Given the description of an element on the screen output the (x, y) to click on. 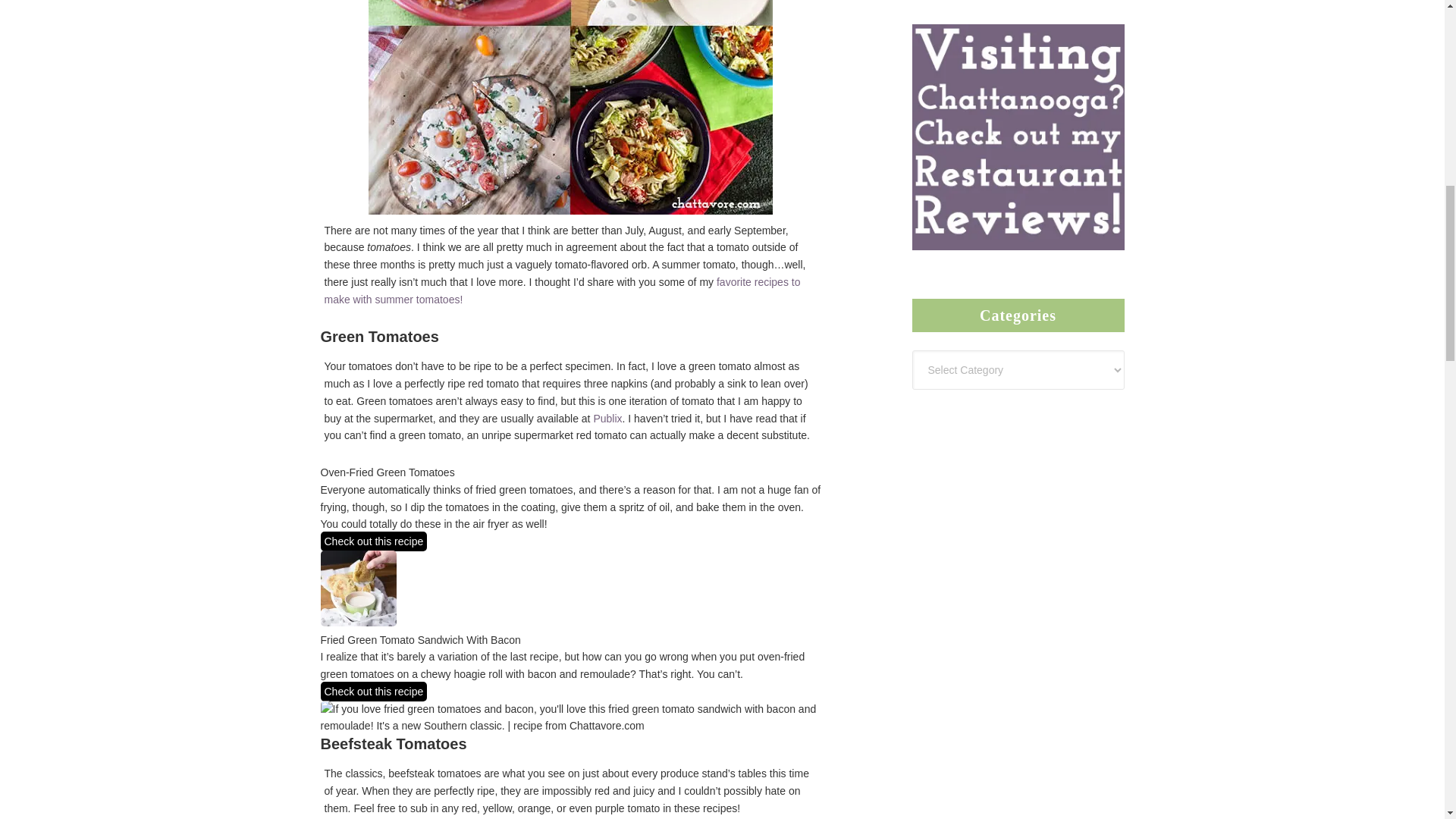
Publix (606, 418)
favorite recipes to make with summer tomatoes! (562, 290)
Check out this recipe (373, 691)
Check out this recipe (373, 541)
